Given the description of an element on the screen output the (x, y) to click on. 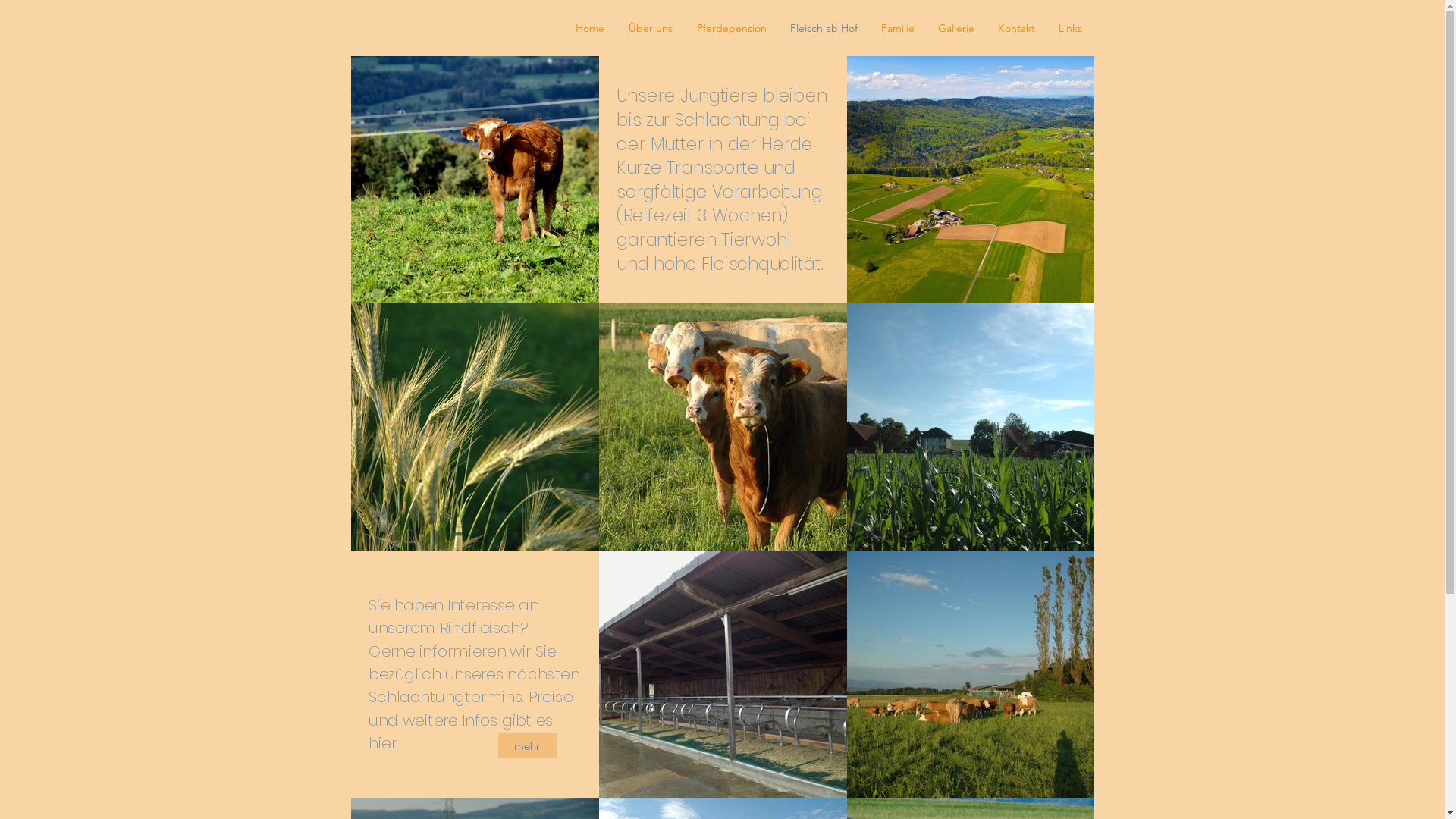
Gallerie Element type: text (956, 28)
Home Element type: text (588, 28)
mehr Element type: text (526, 745)
Familie Element type: text (897, 28)
Fleisch ab Hof Element type: text (823, 28)
Pferdepension Element type: text (731, 28)
Links Element type: text (1069, 28)
Kontakt Element type: text (1015, 28)
